Given the description of an element on the screen output the (x, y) to click on. 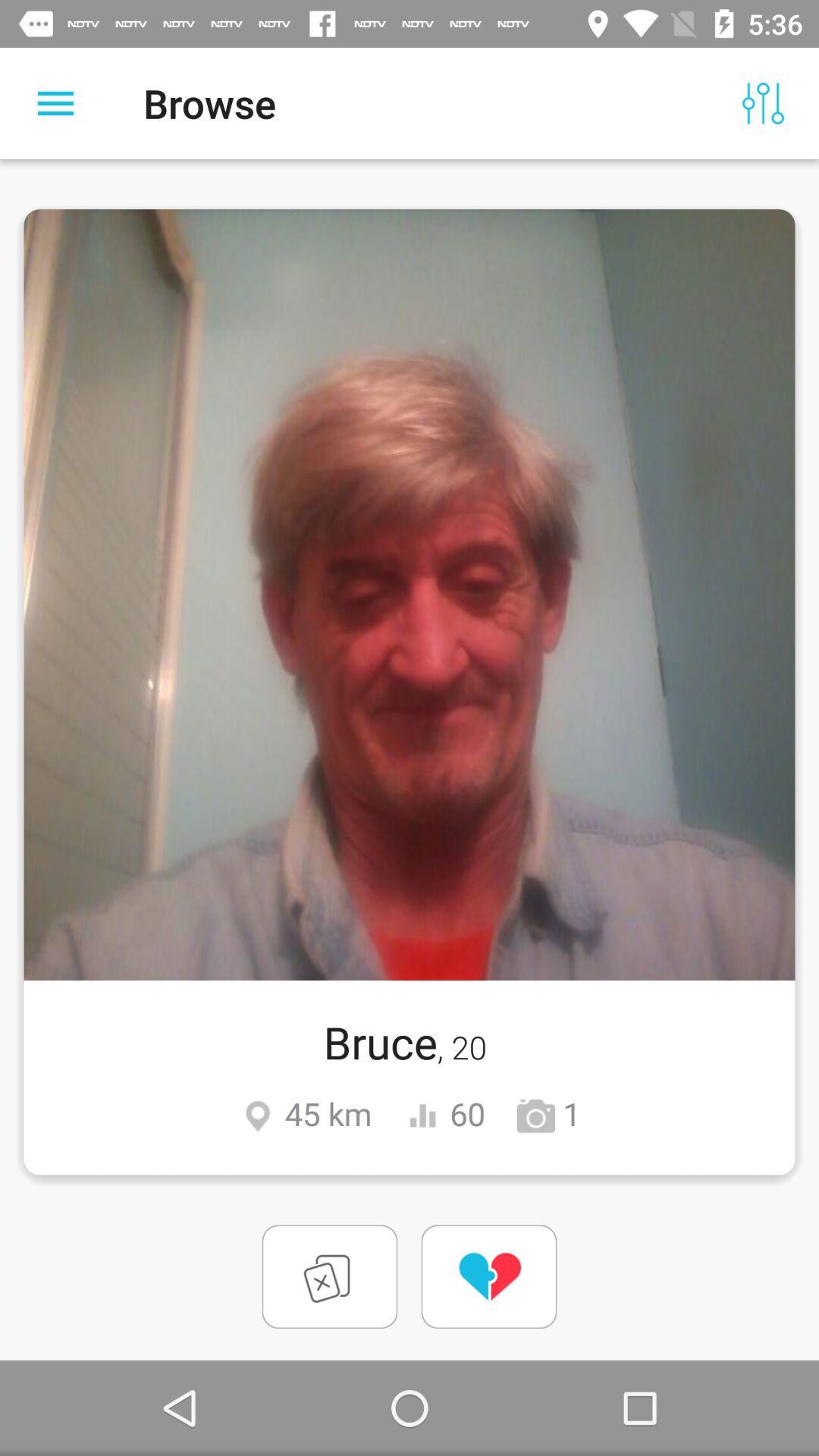
switch more options (55, 103)
